Given the description of an element on the screen output the (x, y) to click on. 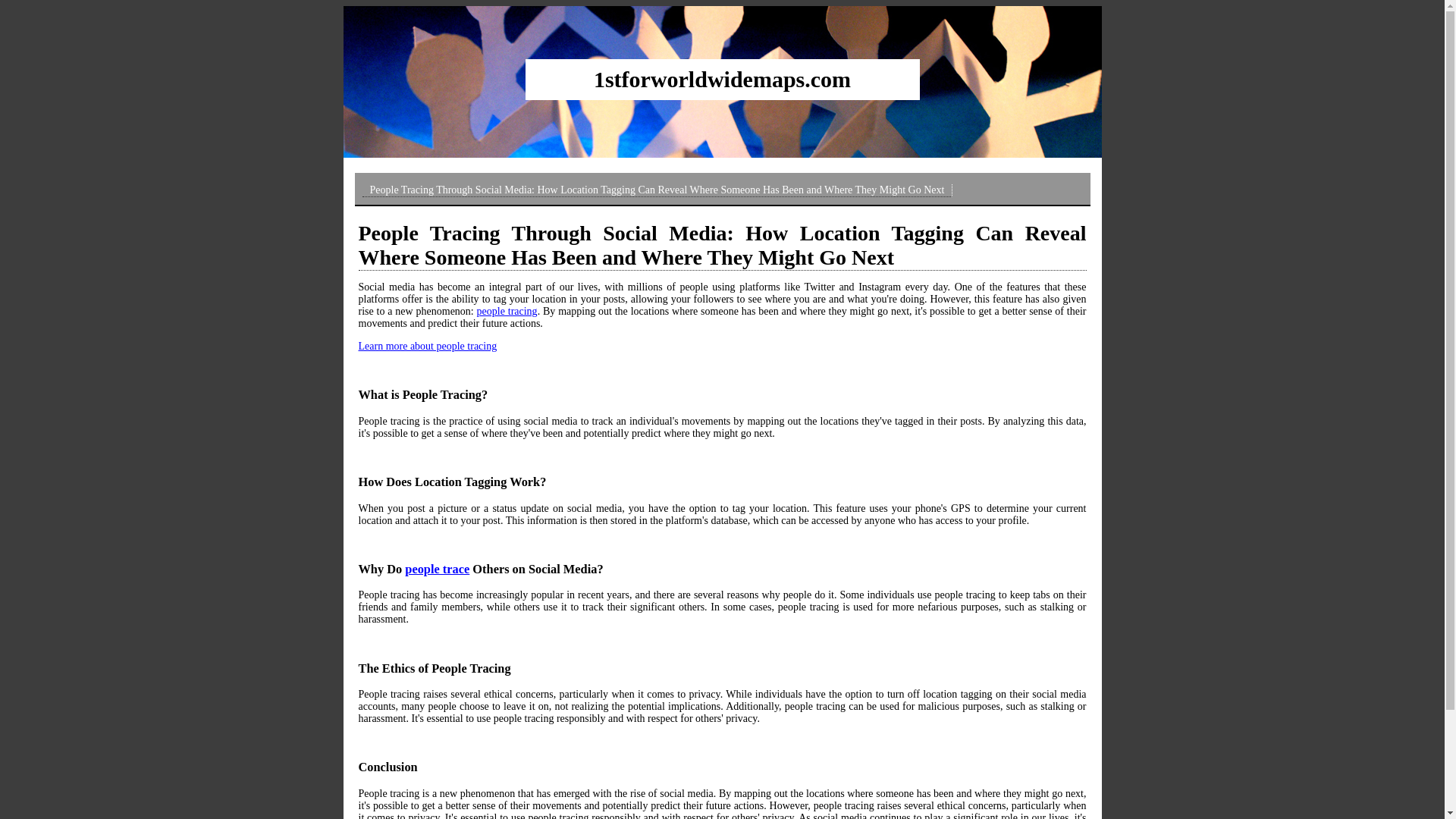
people trace Element type: text (436, 568)
people tracing Element type: text (506, 310)
Learn more about people tracing Element type: text (426, 345)
